Given the description of an element on the screen output the (x, y) to click on. 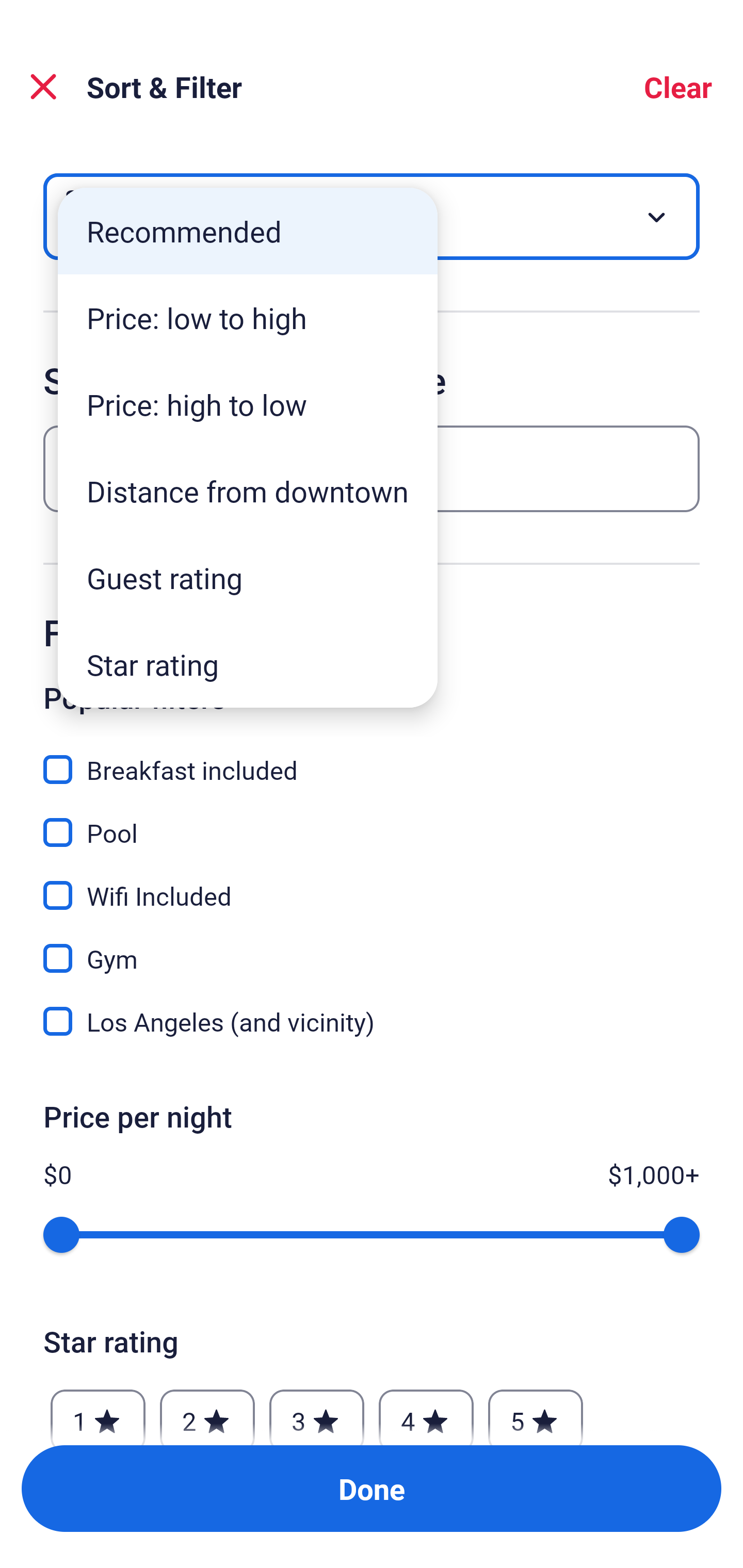
Price: low to high (247, 317)
Price: high to low (247, 404)
Distance from downtown (247, 491)
Guest rating (247, 577)
Star rating (247, 663)
